Given the description of an element on the screen output the (x, y) to click on. 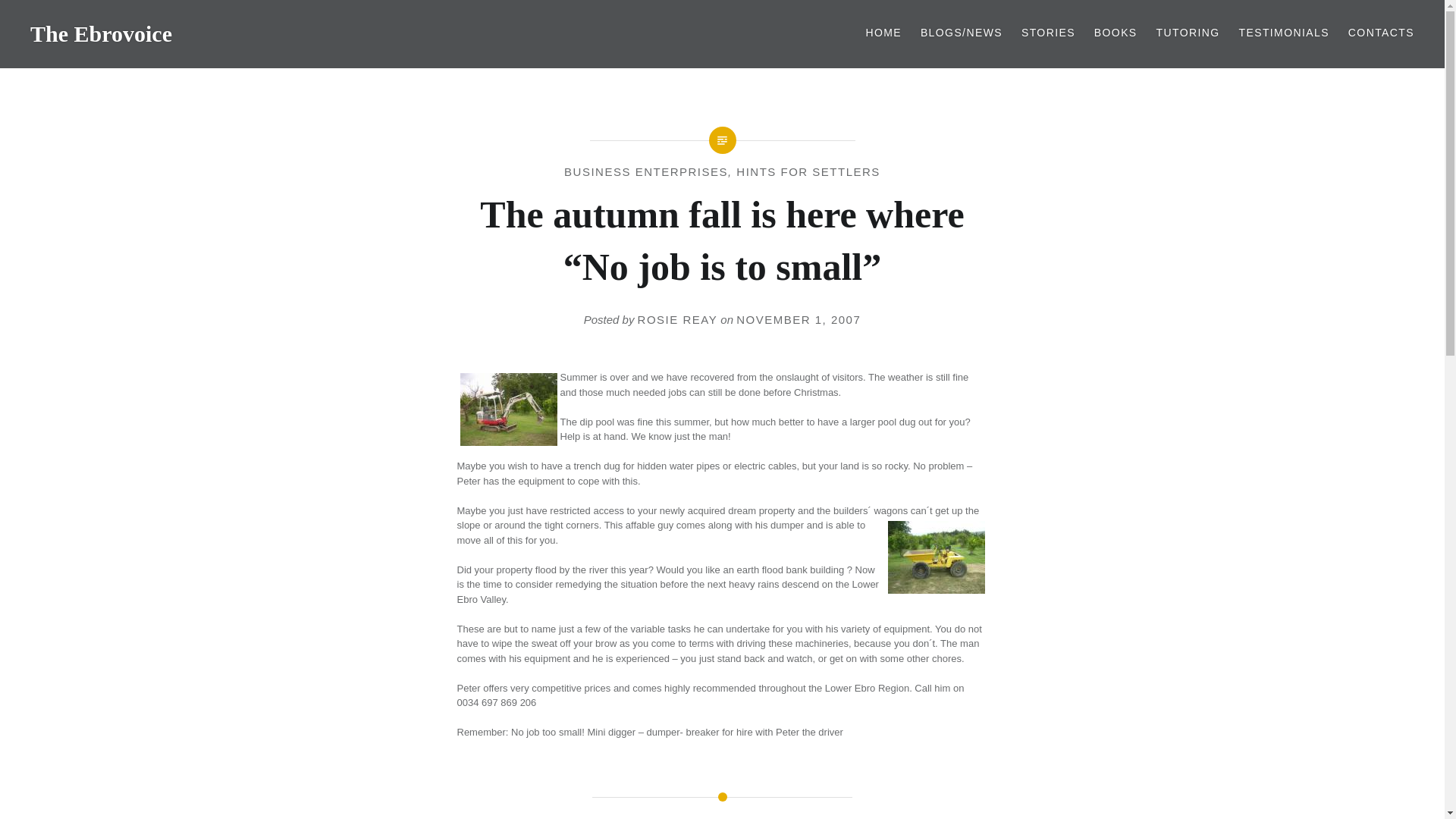
TUTORING (1188, 32)
CONTACTS (1380, 32)
HINTS FOR SETTLERS (808, 171)
HOME (882, 32)
TESTIMONIALS (1283, 32)
STORIES (1048, 32)
ROSIE REAY (677, 318)
BOOKS (1115, 32)
digger1ev.jpg (508, 409)
NOVEMBER 1, 2007 (798, 318)
